Given the description of an element on the screen output the (x, y) to click on. 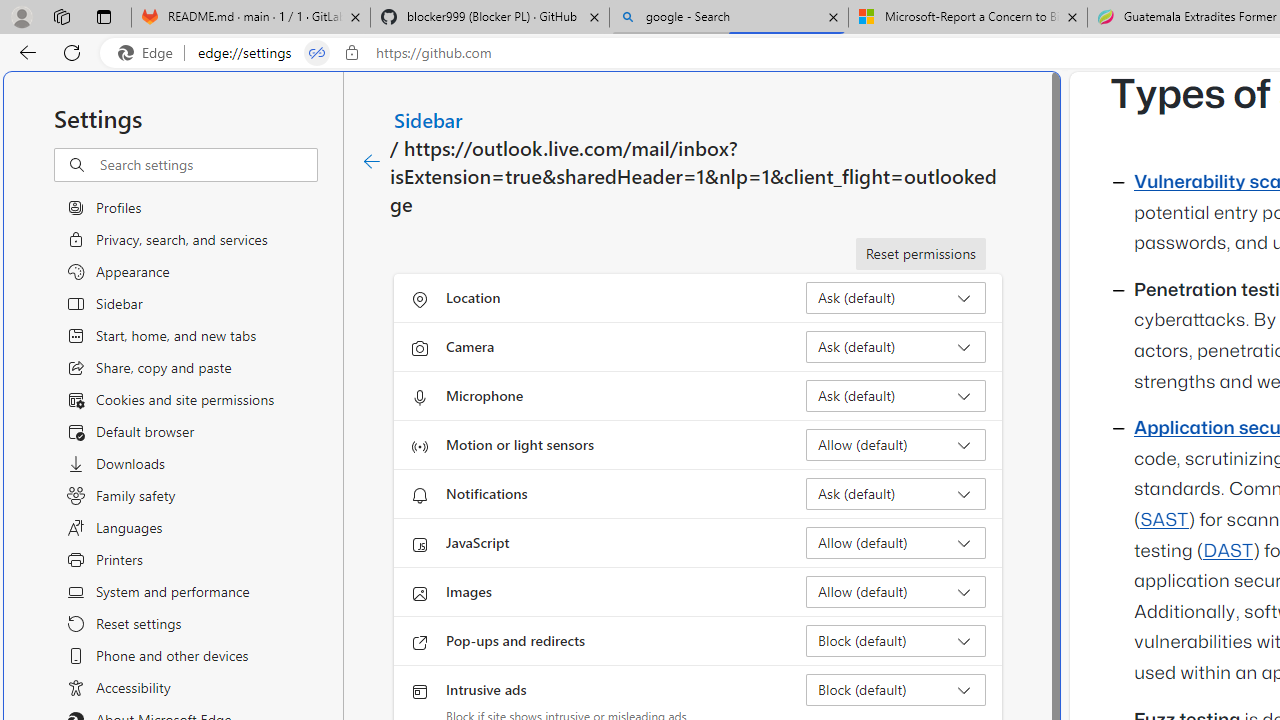
Camera Ask (default) (895, 346)
Edge (150, 53)
Motion or light sensors Allow (default) (895, 444)
Class: c01182 (371, 161)
Go back to Sidebar page. (372, 162)
Pop-ups and redirects Block (default) (895, 640)
Images Allow (default) (895, 591)
Reset permissions (920, 254)
SAST (1164, 520)
Microphone Ask (default) (895, 395)
Intrusive ads Block (default) (895, 689)
